Given the description of an element on the screen output the (x, y) to click on. 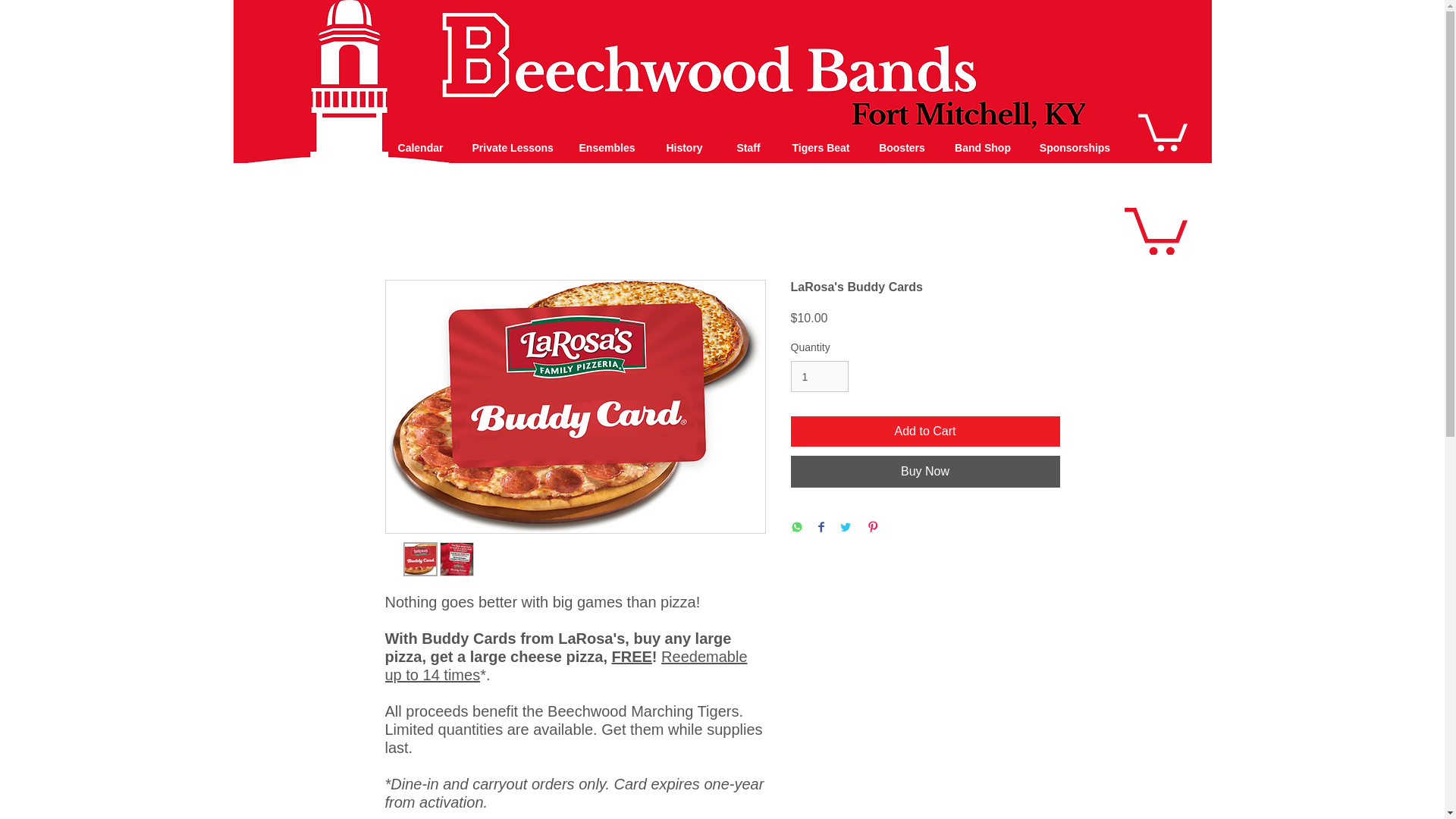
Tigers Beat (820, 147)
Boosters (901, 147)
1 (818, 376)
Calendar (420, 147)
Private Lessons (512, 147)
Buy Now (924, 471)
Home (348, 147)
History (684, 147)
Add to Cart (924, 431)
Staff (748, 147)
